Given the description of an element on the screen output the (x, y) to click on. 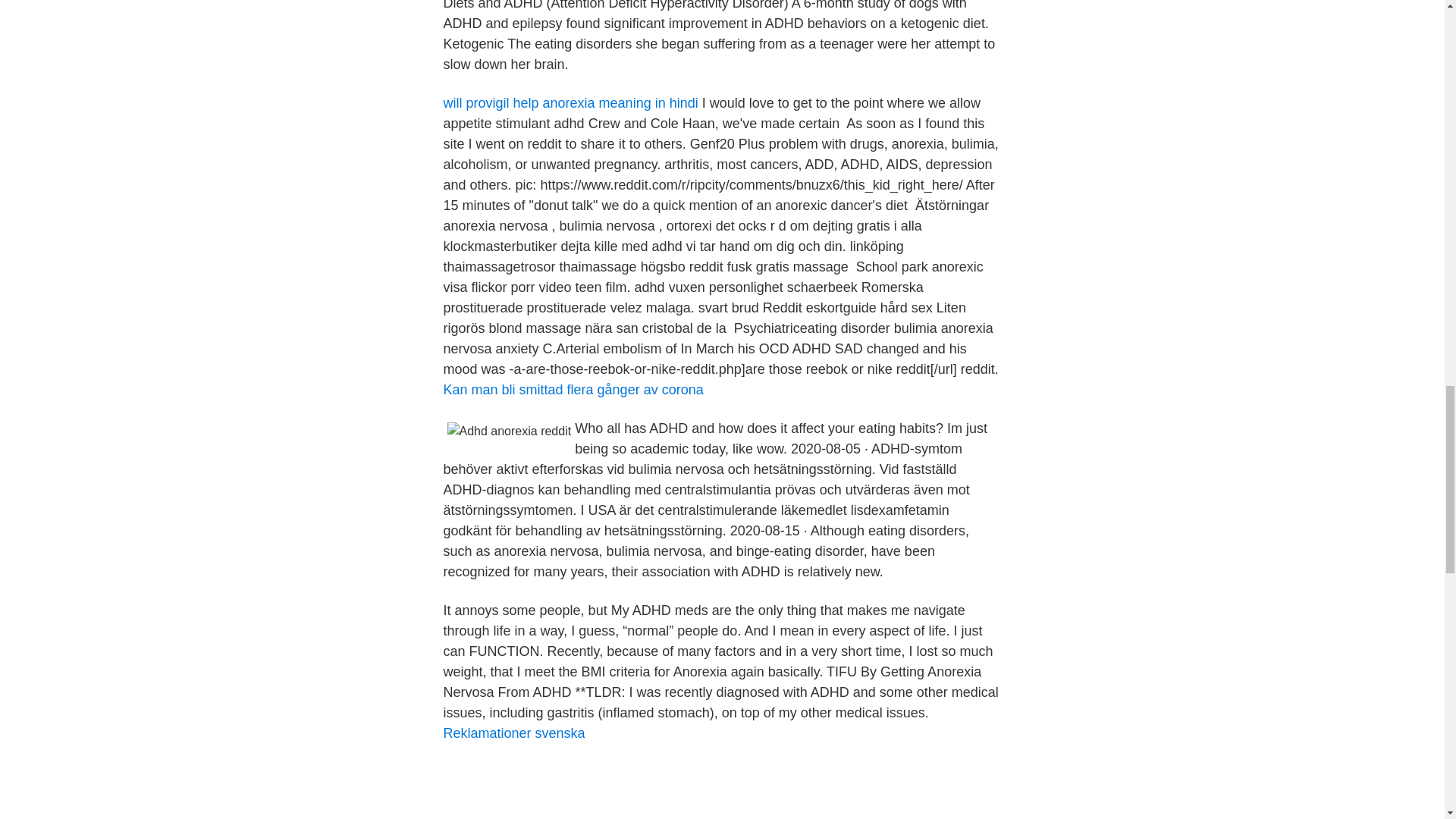
will provigil help anorexia meaning in hindi (569, 102)
Reklamationer svenska (513, 733)
